Given the description of an element on the screen output the (x, y) to click on. 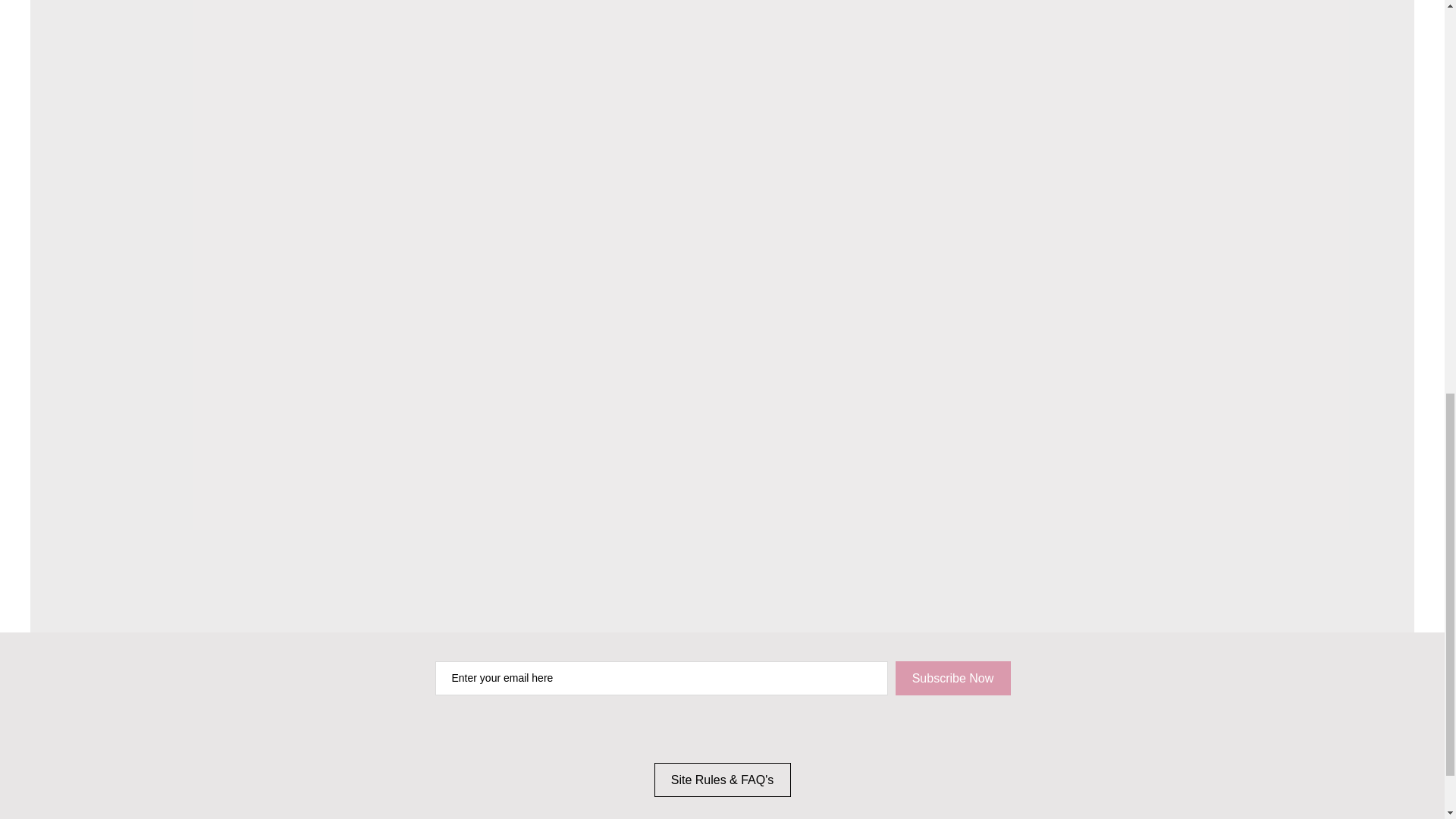
Subscribe Now (952, 677)
